Given the description of an element on the screen output the (x, y) to click on. 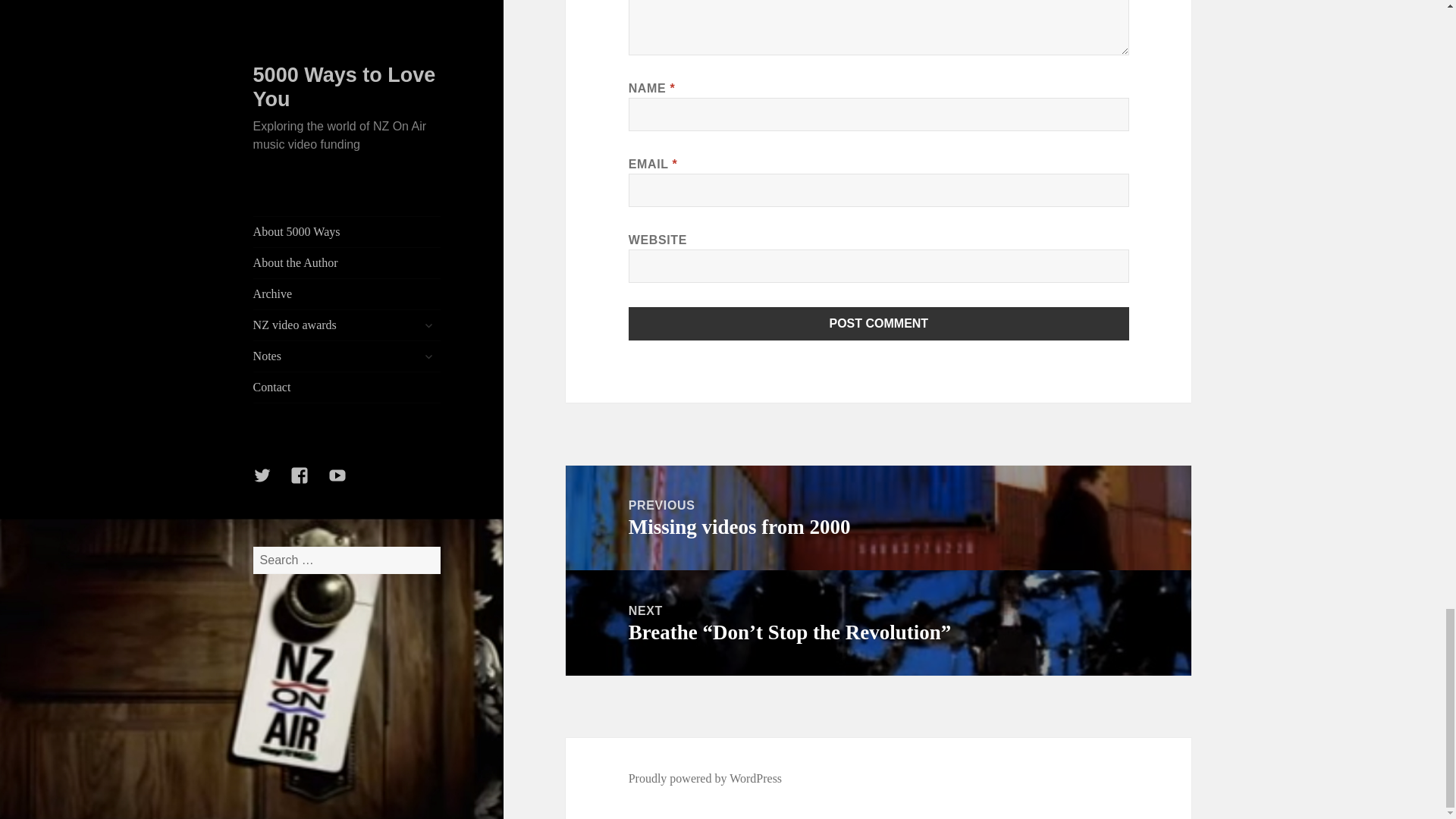
Post Comment (878, 323)
Proudly powered by WordPress (704, 778)
Post Comment (878, 518)
